Given the description of an element on the screen output the (x, y) to click on. 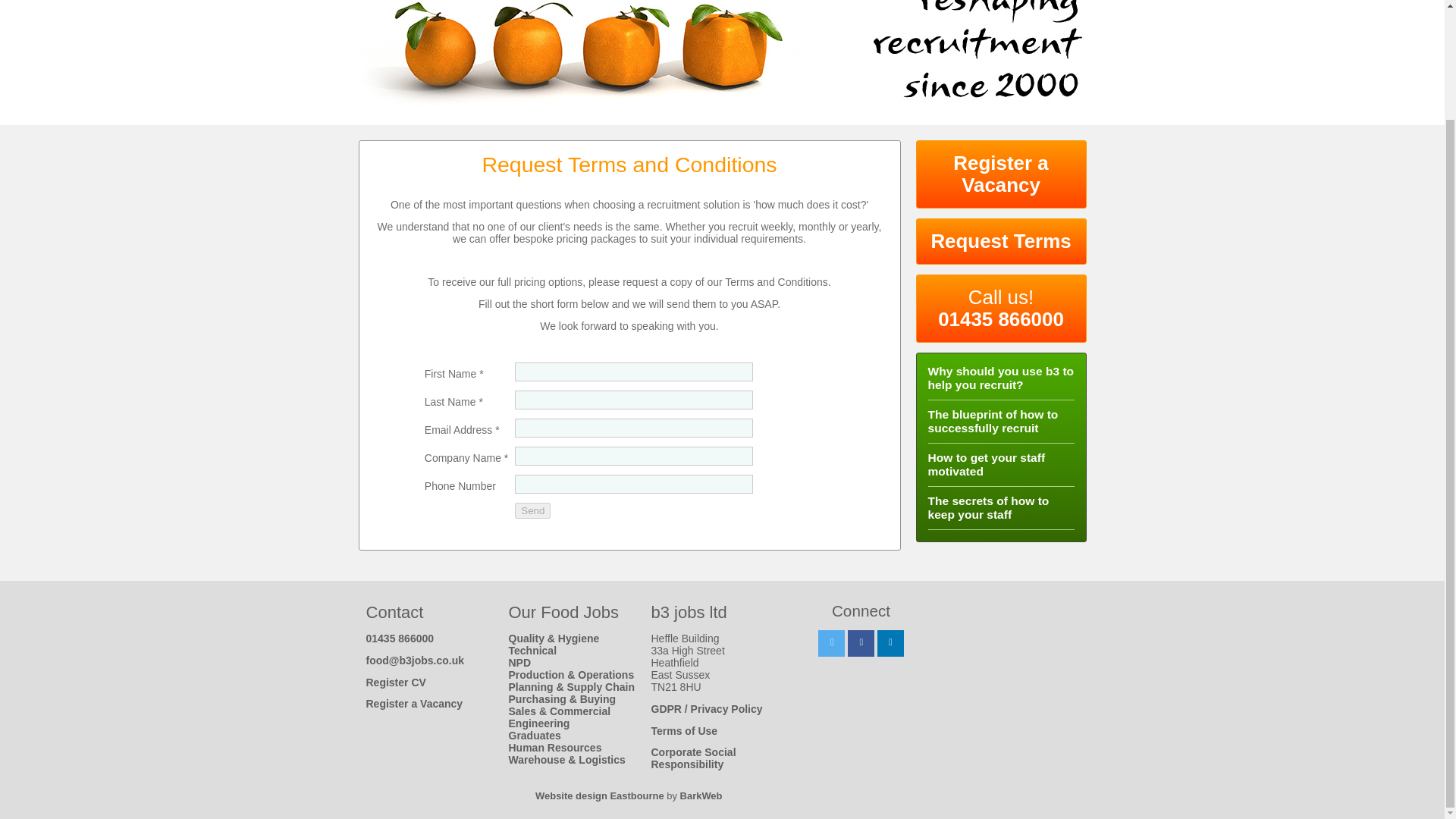
NPD (519, 662)
The blueprint of how to successfully recruit (993, 420)
Technical (532, 650)
Reshaping recruitment since 2000 (722, 61)
Send (532, 510)
01435 866000 (399, 638)
Request Terms (1000, 241)
Send (532, 510)
01435 866000 (1000, 319)
Why should you use b3 to help you recruit? (1001, 377)
